Given the description of an element on the screen output the (x, y) to click on. 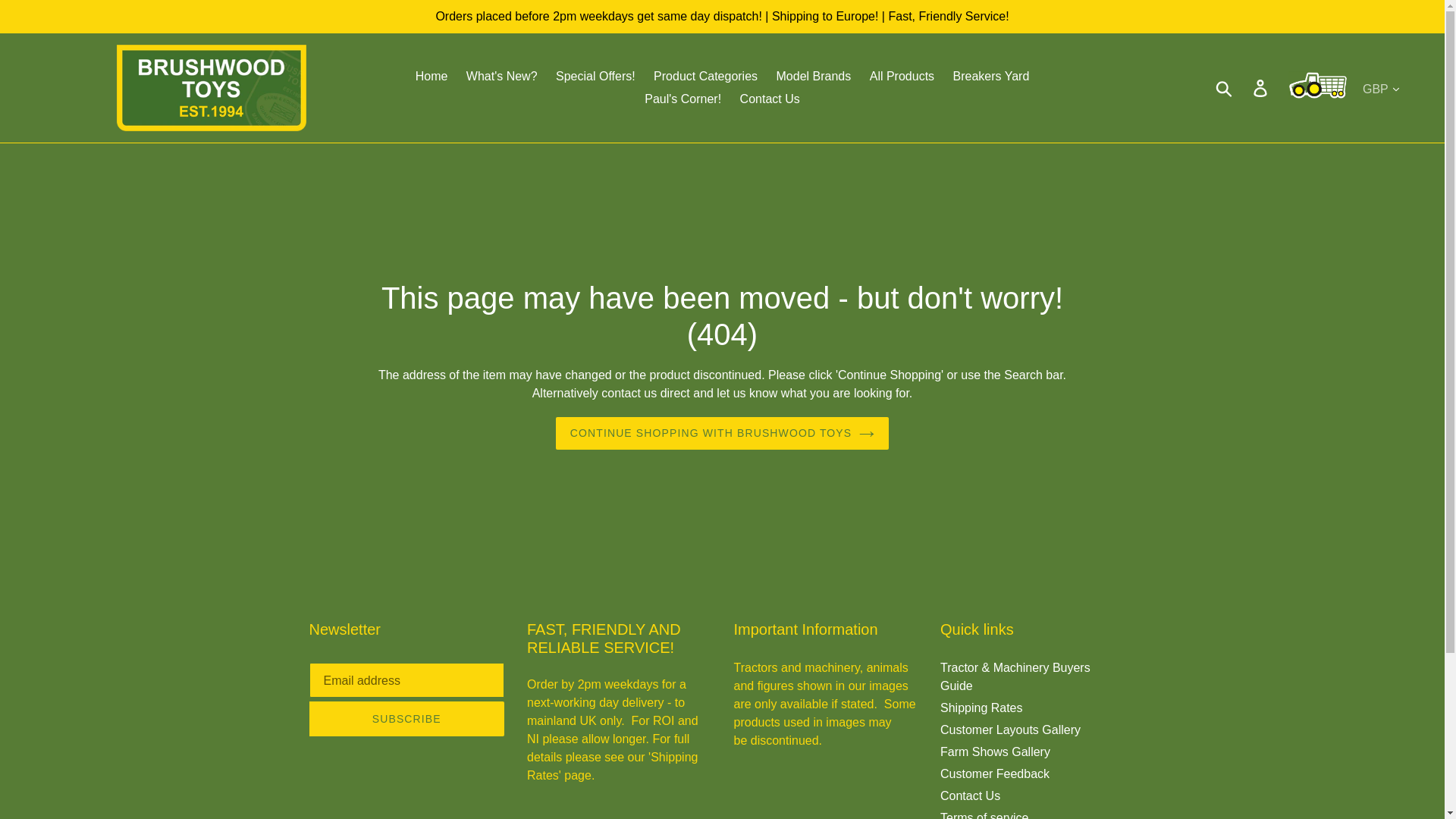
CONTINUE SHOPPING WITH BRUSHWOOD TOYS (722, 432)
Contact Us (970, 795)
Contact Us (770, 98)
Submit (1225, 87)
Shipping Rates (981, 707)
SUBSCRIBE (406, 718)
All Products (901, 76)
What's New? (501, 76)
Customer Feedback (994, 773)
Special Offers! (595, 76)
Log in (1261, 87)
Breakers Yard (990, 76)
Paul's Corner! (683, 98)
Home (431, 76)
Trailer (1317, 87)
